Given the description of an element on the screen output the (x, y) to click on. 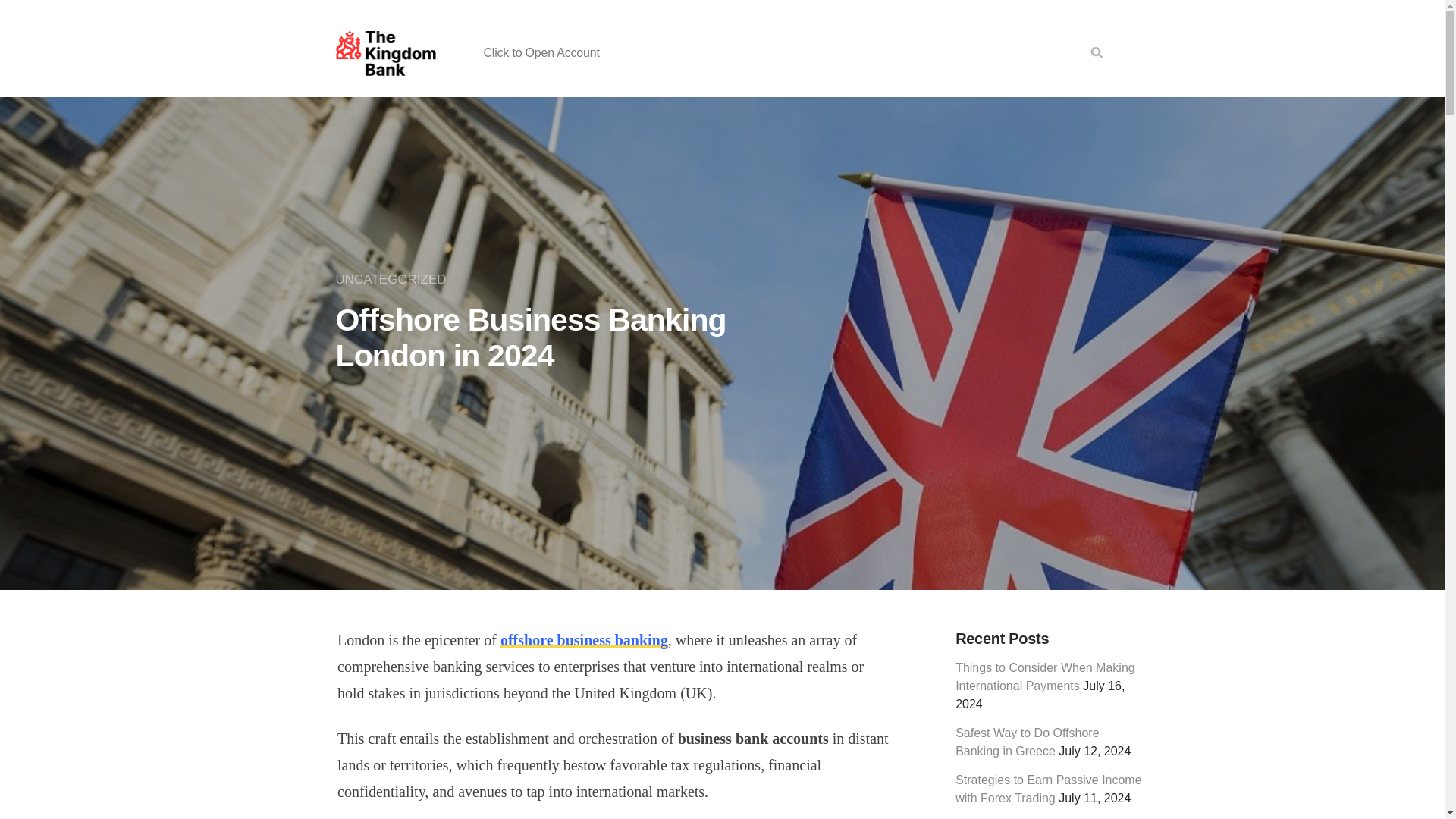
Safest Way to Do Offshore Banking in Greece (1027, 741)
offshore business banking (584, 639)
UNCATEGORIZED (393, 278)
Strategies to Earn Passive Income with Forex Trading (1048, 788)
Things to Consider When Making International Payments (1045, 676)
Click to Open Account (541, 51)
Uncategorized (393, 278)
